Given the description of an element on the screen output the (x, y) to click on. 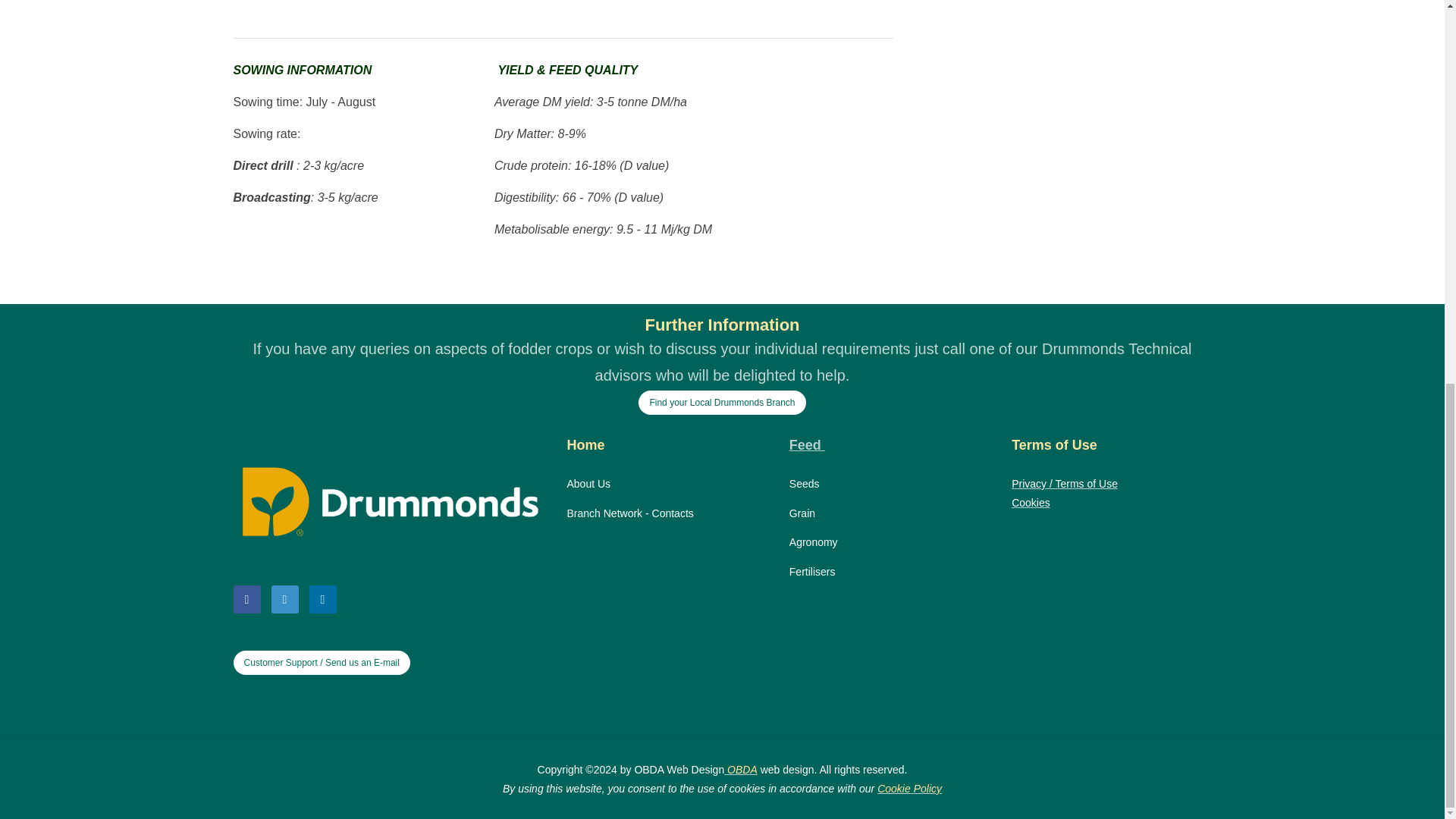
Follow on LinkedIn (322, 599)
Follow on Facebook (246, 599)
O'Brien Design Associates - Web Design (741, 769)
Follow on Twitter (284, 599)
